Given the description of an element on the screen output the (x, y) to click on. 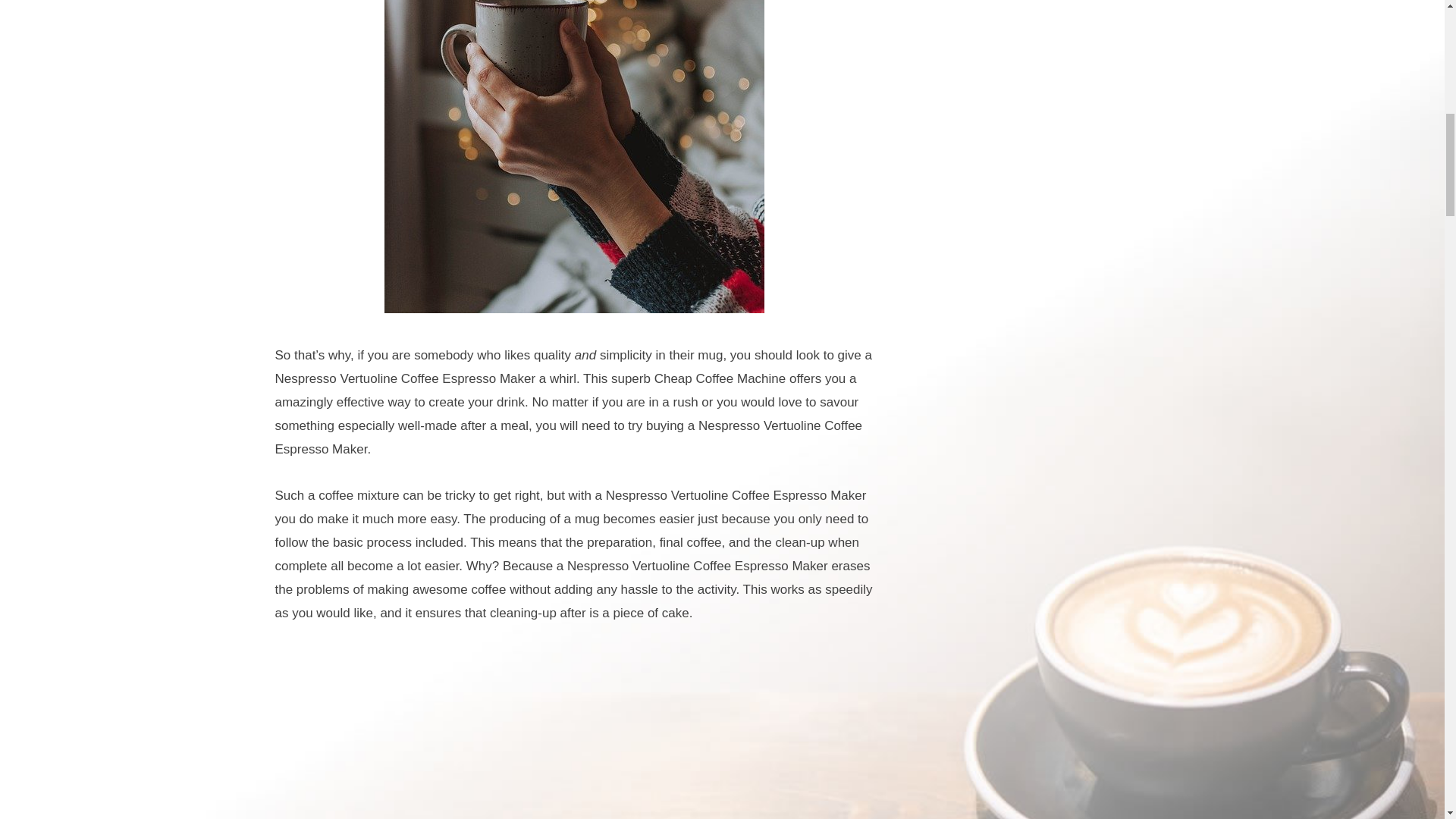
Black Friday Delonghi Coffee Machine (574, 156)
Best Home Coffee Roaster (573, 733)
